Given the description of an element on the screen output the (x, y) to click on. 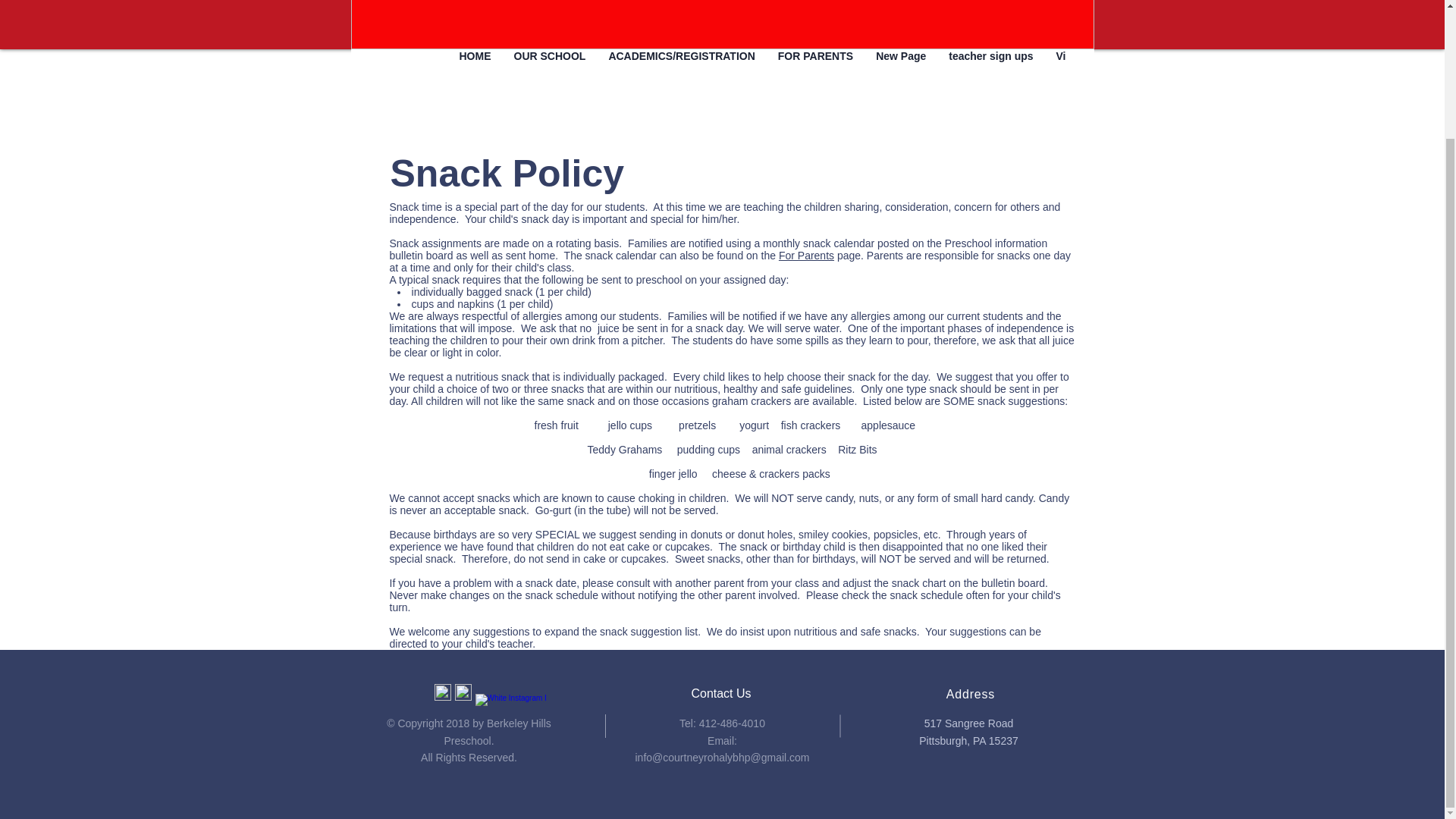
HOME (474, 67)
New Page (900, 67)
FOR PARENTS (815, 67)
OUR SCHOOL (549, 67)
Visitation Sign-Up for Sept. 2020 (1138, 67)
For Parents (806, 255)
